Given the description of an element on the screen output the (x, y) to click on. 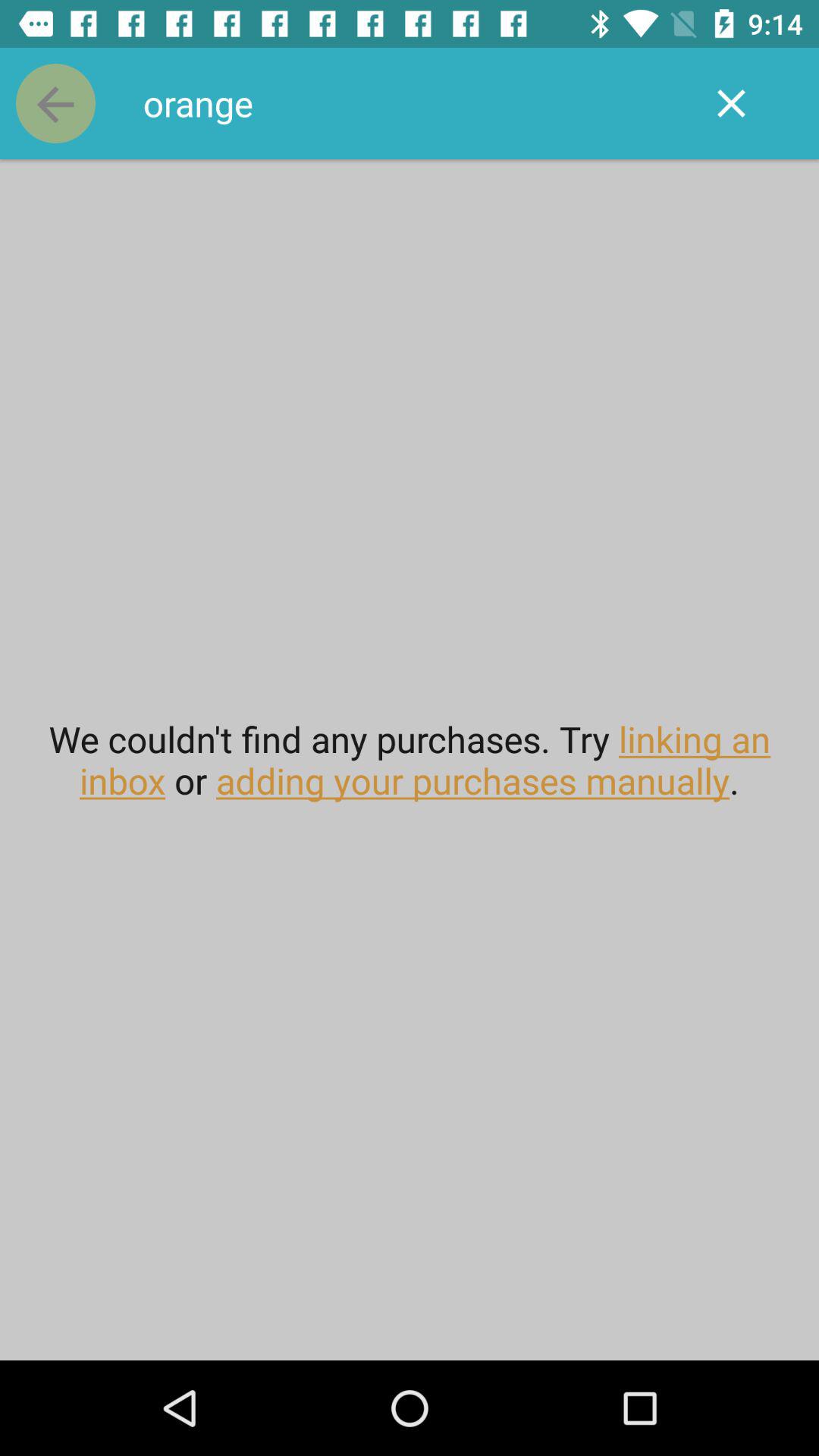
scroll until the we couldn t (409, 759)
